Given the description of an element on the screen output the (x, y) to click on. 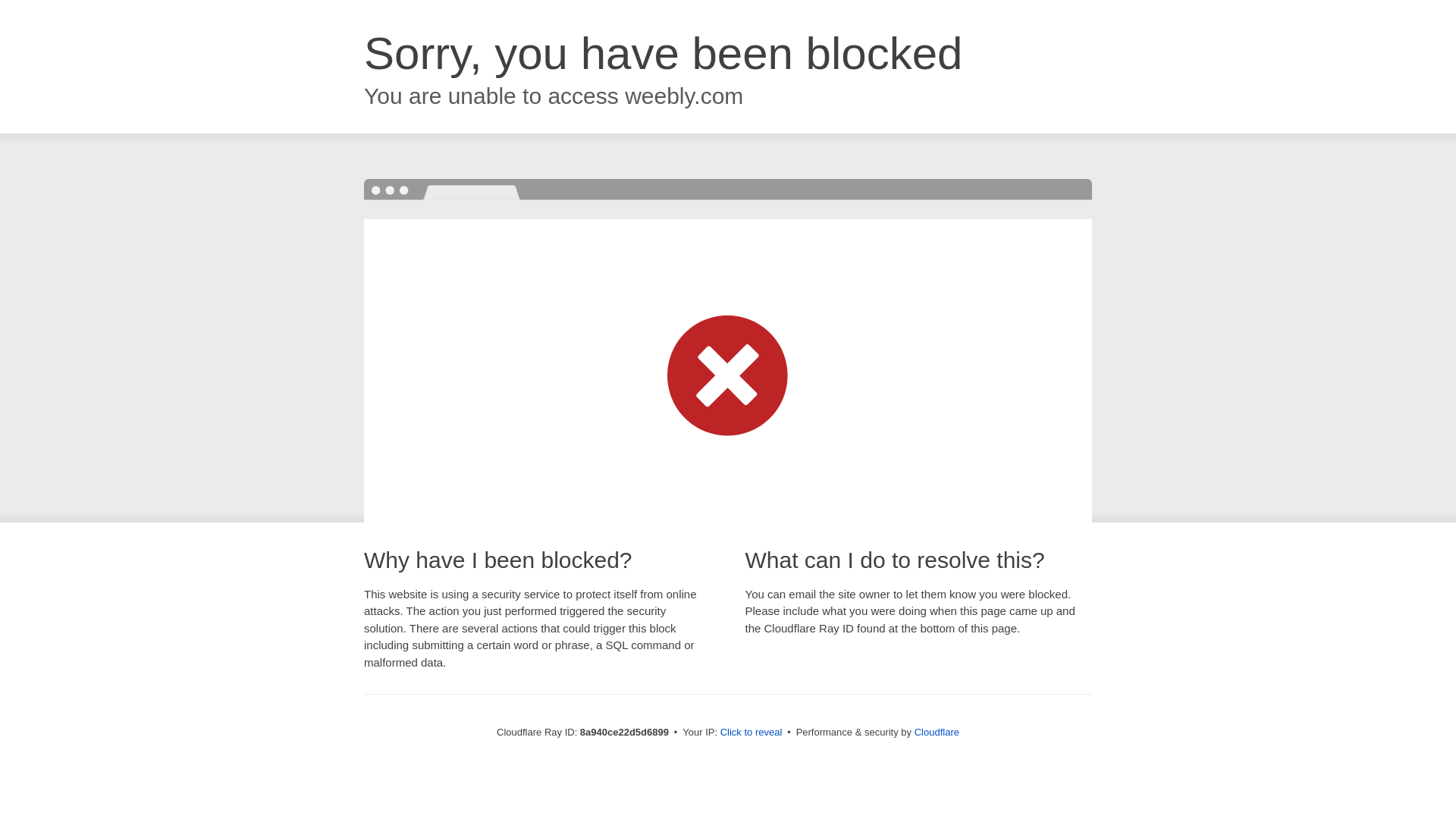
Click to reveal (751, 732)
Cloudflare (936, 731)
